Given the description of an element on the screen output the (x, y) to click on. 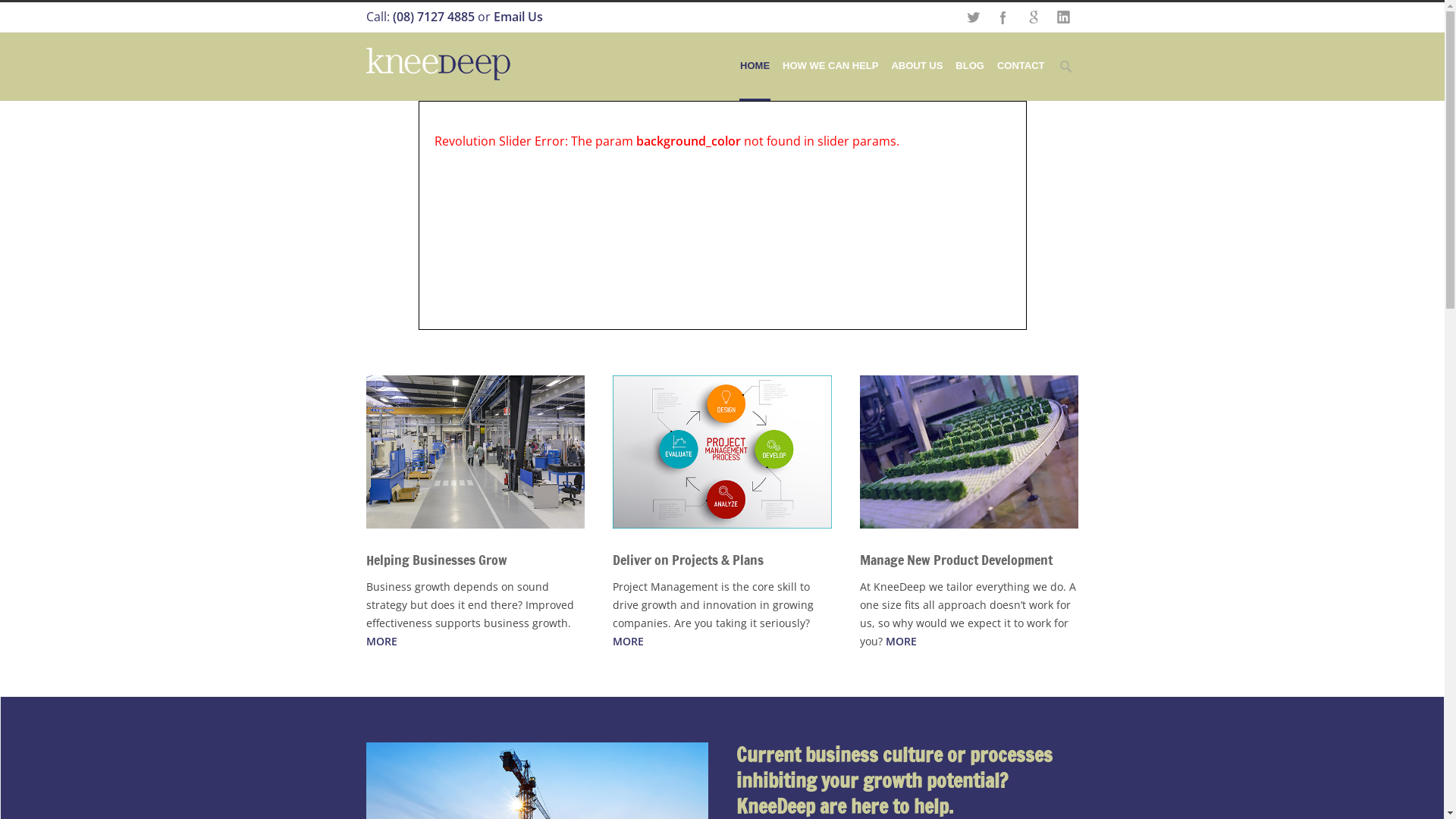
BLOG Element type: text (969, 66)
LinkedIn Element type: text (1063, 17)
MORE Element type: text (900, 640)
Manage New Product Development Element type: text (955, 559)
MORE Element type: text (380, 640)
Google+ Element type: text (1032, 17)
Deliver on Projects & Plans Element type: text (687, 559)
Facebook Element type: text (1002, 17)
Search Element type: text (12, 10)
CONTACT Element type: text (1020, 66)
ABOUT US Element type: text (916, 66)
Twitter Element type: text (972, 17)
Helping Businesses Grow Element type: text (435, 559)
Email Us Element type: text (517, 16)
(08) 7127 4885 Element type: text (433, 16)
HOW WE CAN HELP Element type: text (829, 66)
HOME Element type: text (754, 66)
MORE Element type: text (627, 640)
